Given the description of an element on the screen output the (x, y) to click on. 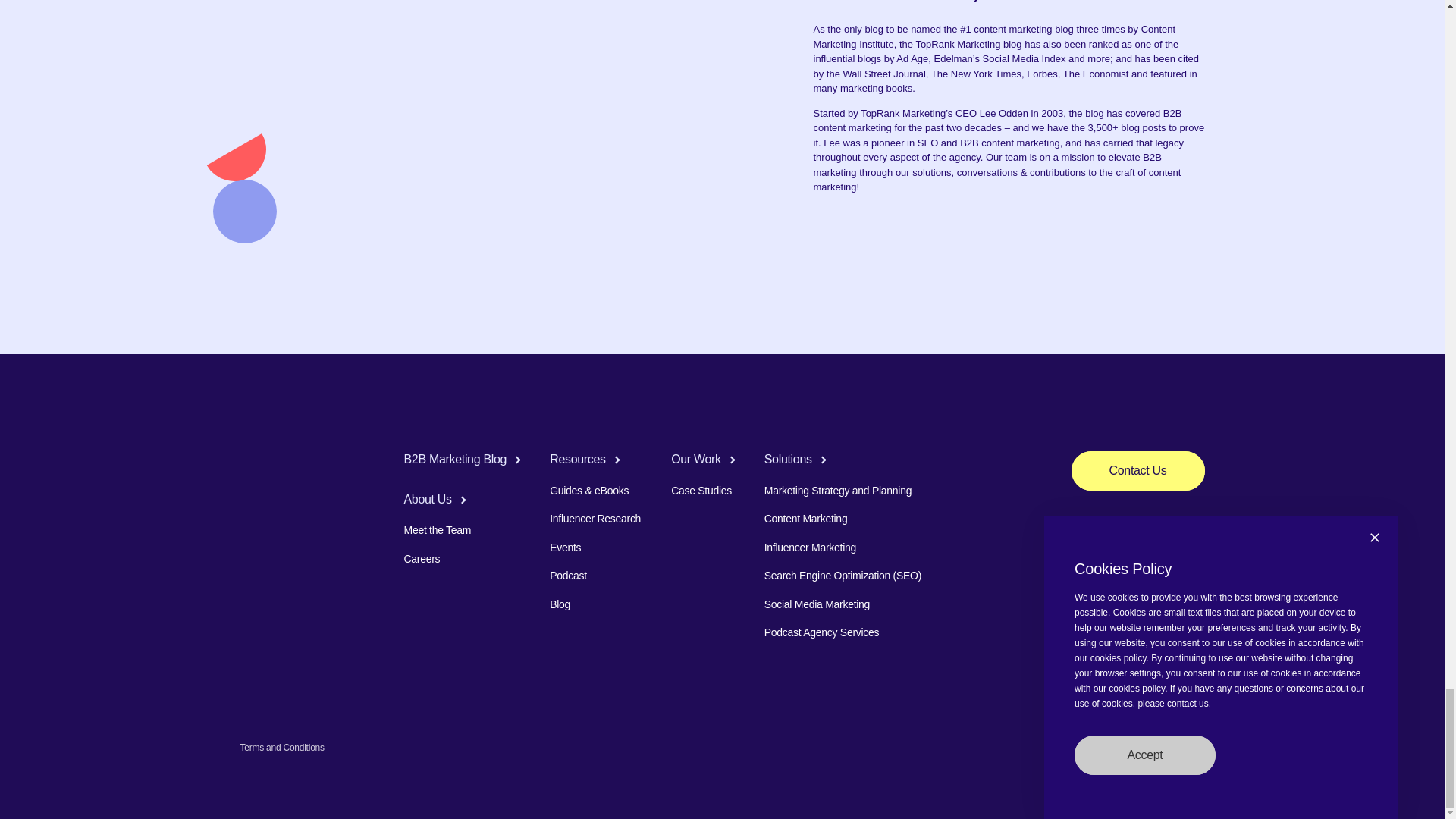
TopRankMarketing logo (287, 461)
